Given the description of an element on the screen output the (x, y) to click on. 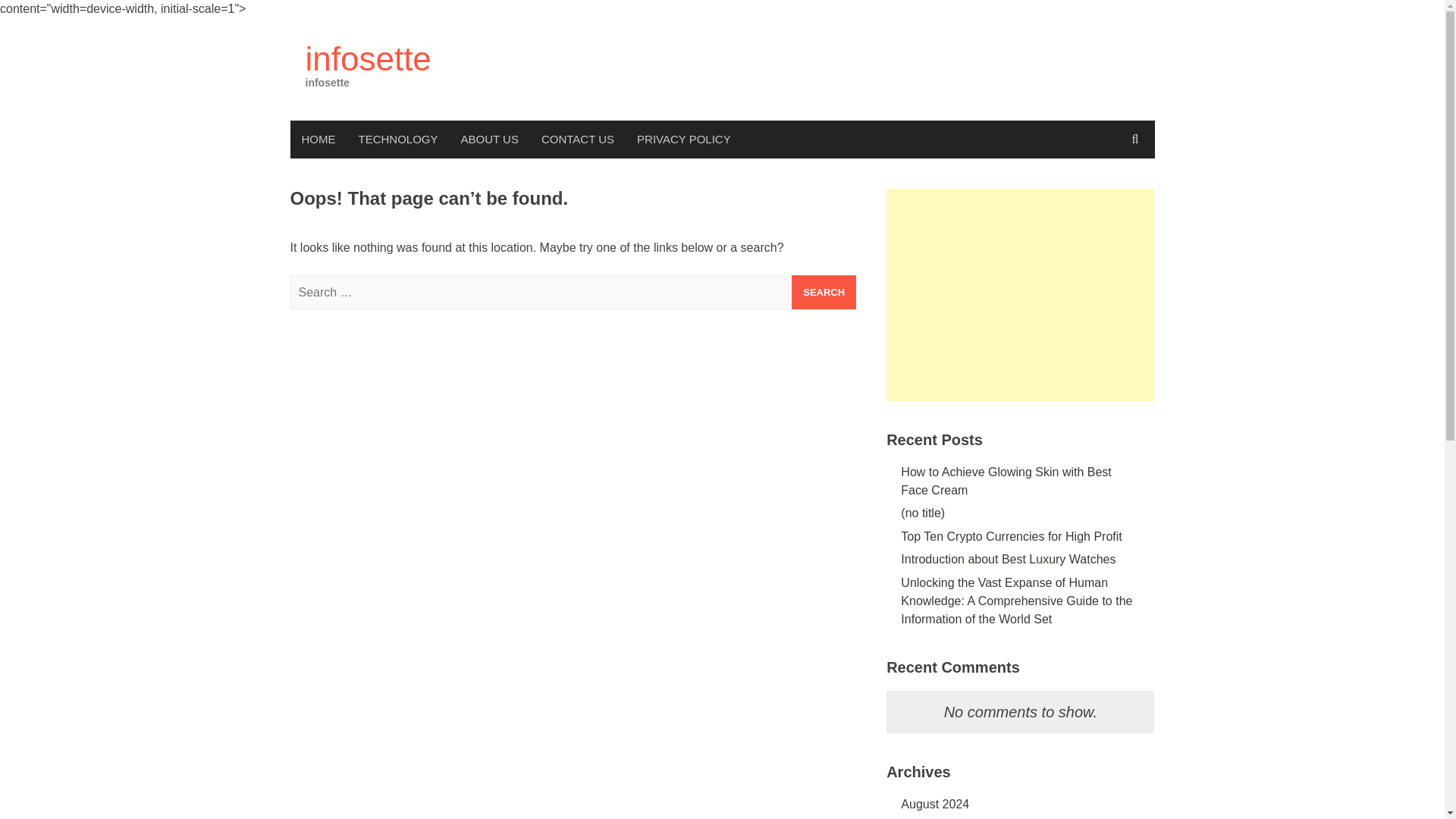
Search (824, 292)
Top Ten Crypto Currencies for High Profit (1011, 535)
Search (824, 292)
TECHNOLOGY (398, 139)
Search (824, 292)
infosette (367, 58)
PRIVACY POLICY (684, 139)
Advertisement (1020, 295)
Introduction about Best Luxury Watches (1008, 558)
